Given the description of an element on the screen output the (x, y) to click on. 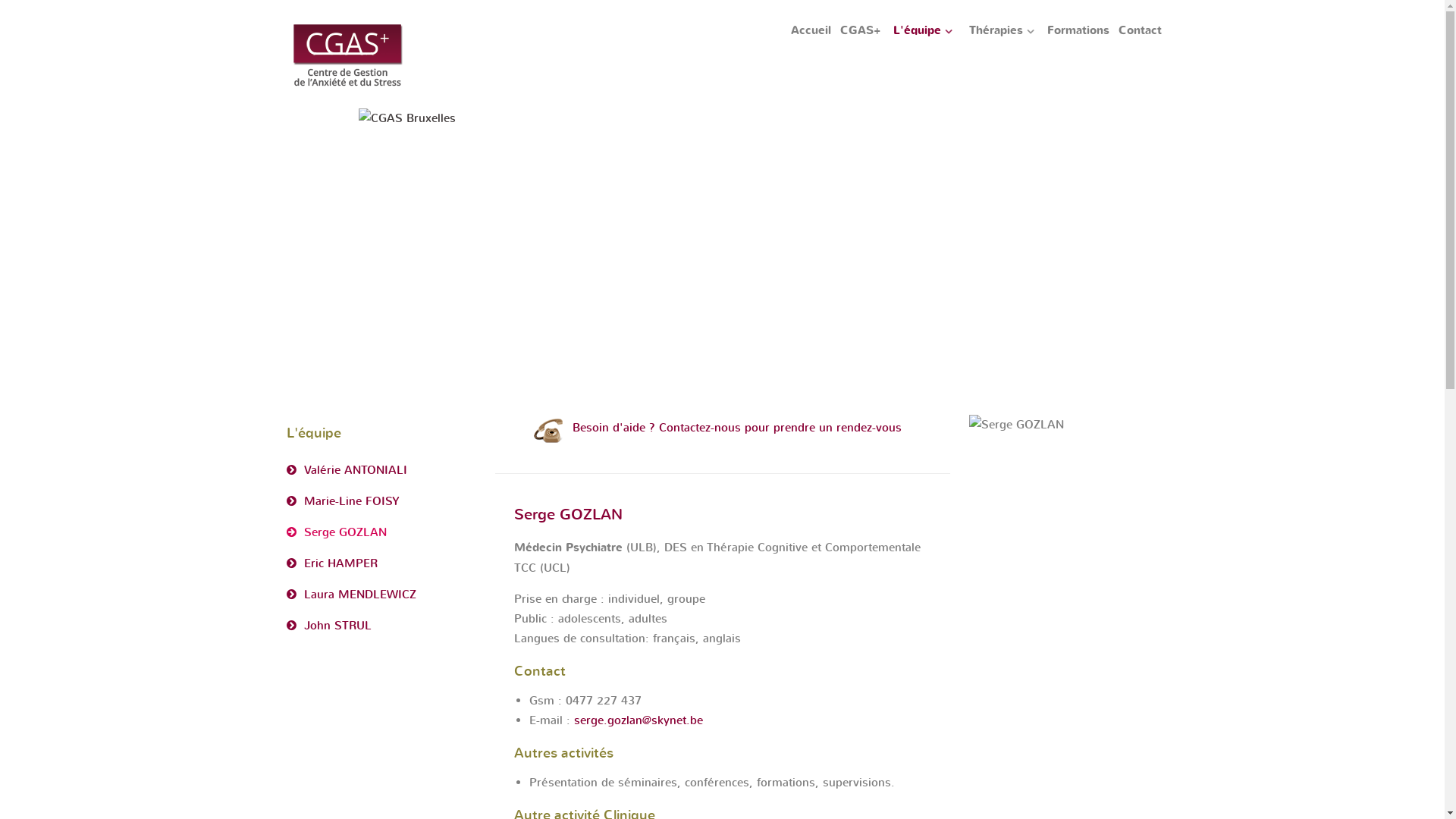
Besoin d'aide ? Contactez-nous pour prendre un rendez-vous Element type: text (735, 427)
CGAS+ Element type: text (859, 30)
Laura MENDLEWICZ Element type: text (380, 594)
Accueil Element type: text (810, 30)
Eric HAMPER Element type: text (380, 563)
Serge GOZLAN Element type: hover (1016, 424)
Contact Element type: text (1139, 30)
Formations Element type: text (1078, 30)
Marie-Line FOISY Element type: text (380, 500)
John STRUL Element type: text (380, 625)
serge.gozlan@skynet.be Element type: text (637, 720)
Serge GOZLAN Element type: text (380, 532)
